Given the description of an element on the screen output the (x, y) to click on. 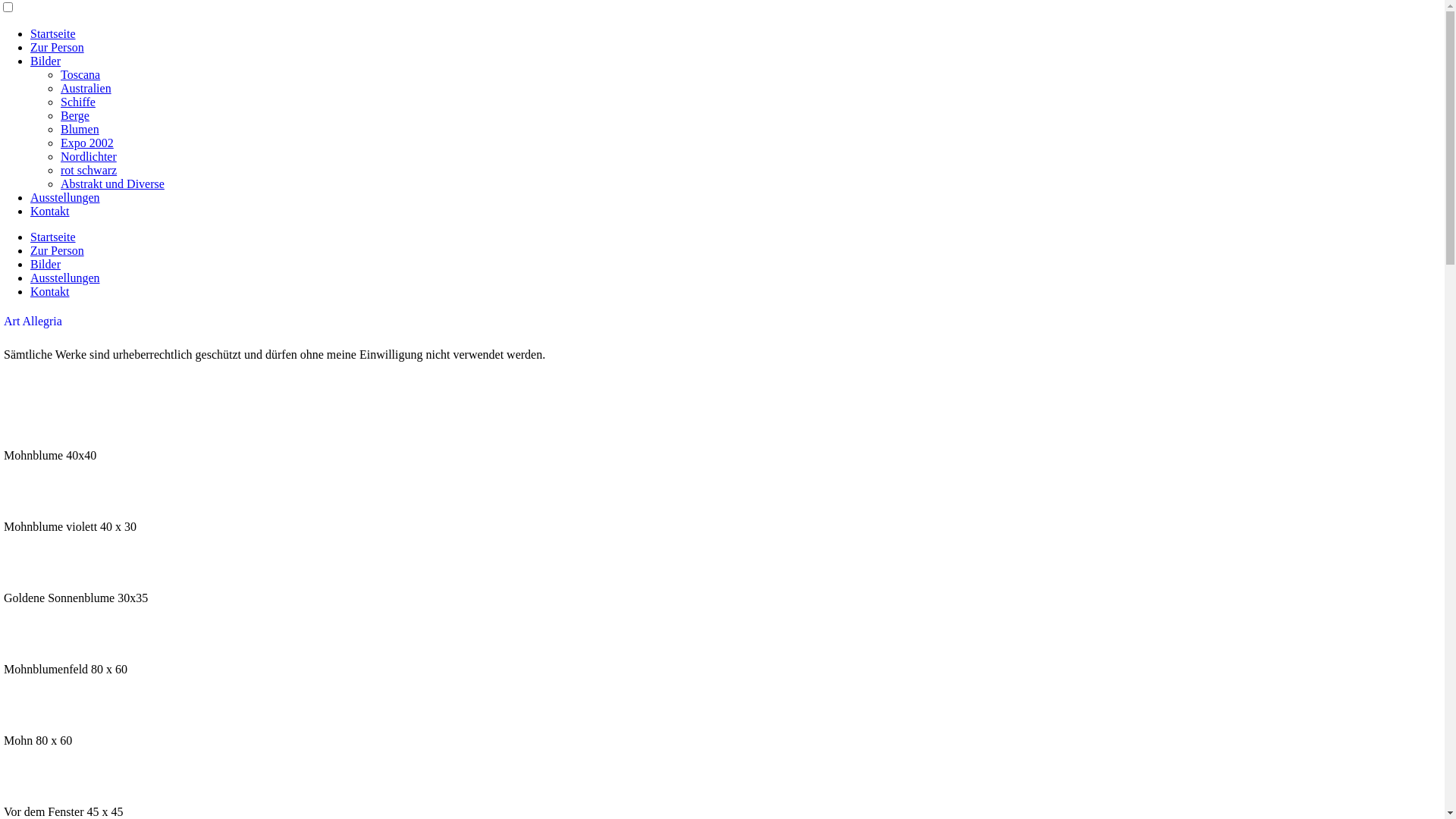
Zur Person Element type: text (57, 250)
Zur Person Element type: text (57, 46)
Australien Element type: text (85, 87)
Kontakt Element type: text (49, 291)
rot schwarz Element type: text (88, 169)
Blumen Element type: text (79, 128)
Startseite Element type: text (52, 236)
Ausstellungen Element type: text (65, 197)
Toscana Element type: text (80, 74)
Bilder Element type: text (45, 263)
Art Allegria Element type: text (32, 320)
Expo 2002 Element type: text (86, 142)
Bilder Element type: text (45, 60)
Nordlichter Element type: text (88, 156)
Startseite Element type: text (52, 33)
Berge Element type: text (74, 115)
Abstrakt und Diverse Element type: text (112, 183)
Ausstellungen Element type: text (65, 277)
Schiffe Element type: text (77, 101)
Kontakt Element type: text (49, 210)
